Given the description of an element on the screen output the (x, y) to click on. 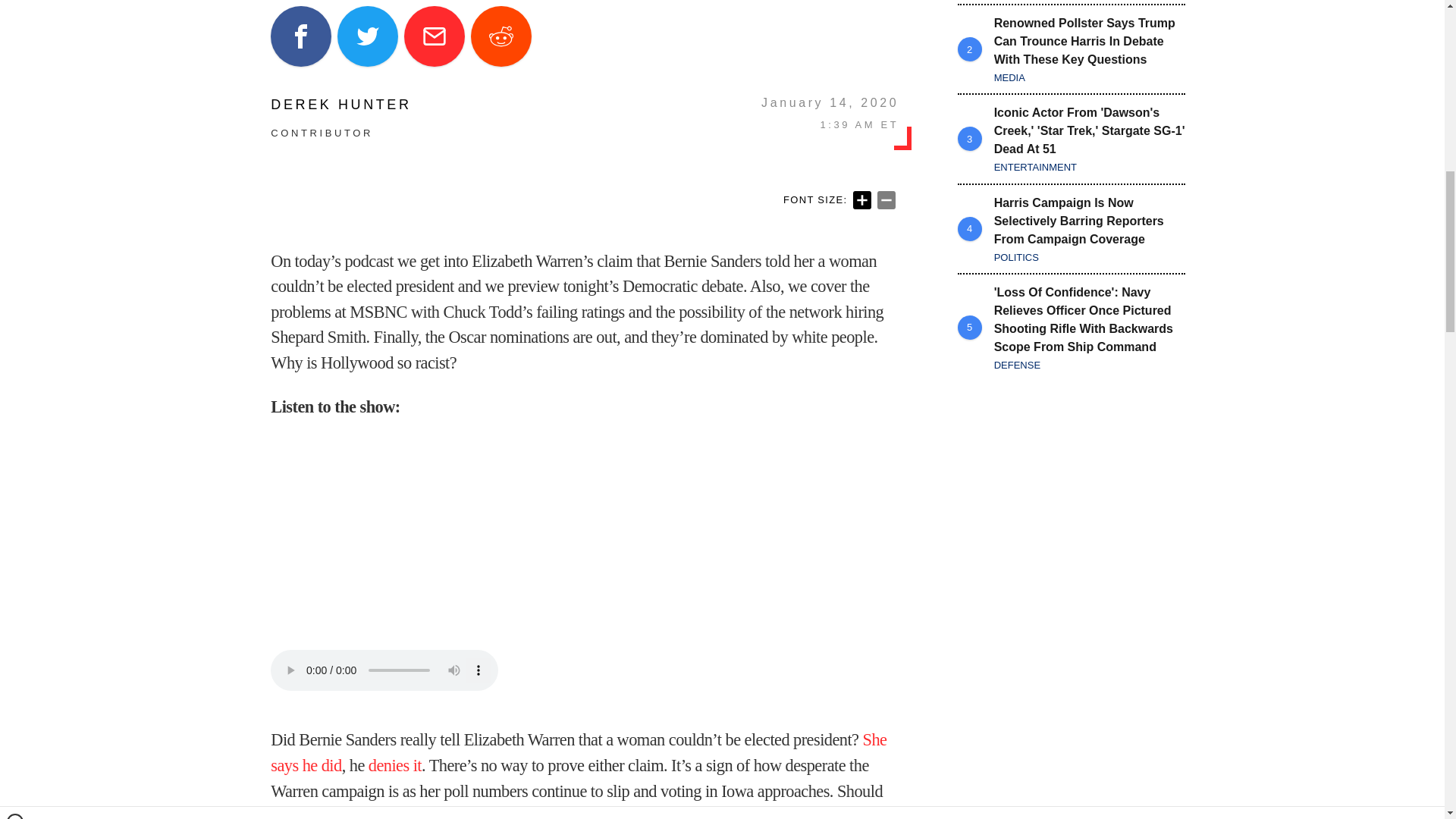
denies it (395, 764)
She says he did (578, 752)
View More Articles By Derek Hunter (340, 103)
Close window (14, 6)
DEREK HUNTER (340, 103)
